Given the description of an element on the screen output the (x, y) to click on. 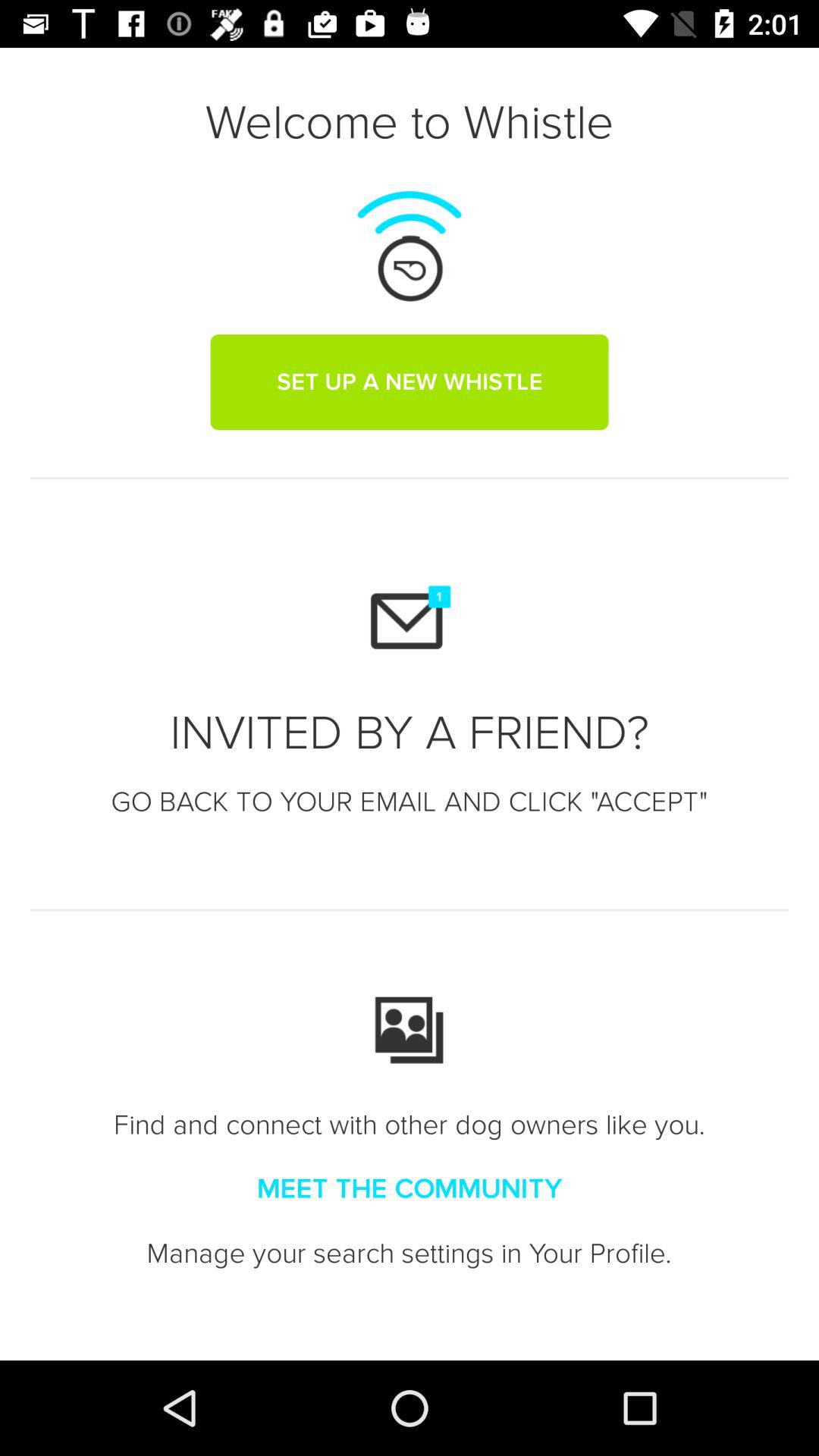
turn on the set up a (409, 381)
